Given the description of an element on the screen output the (x, y) to click on. 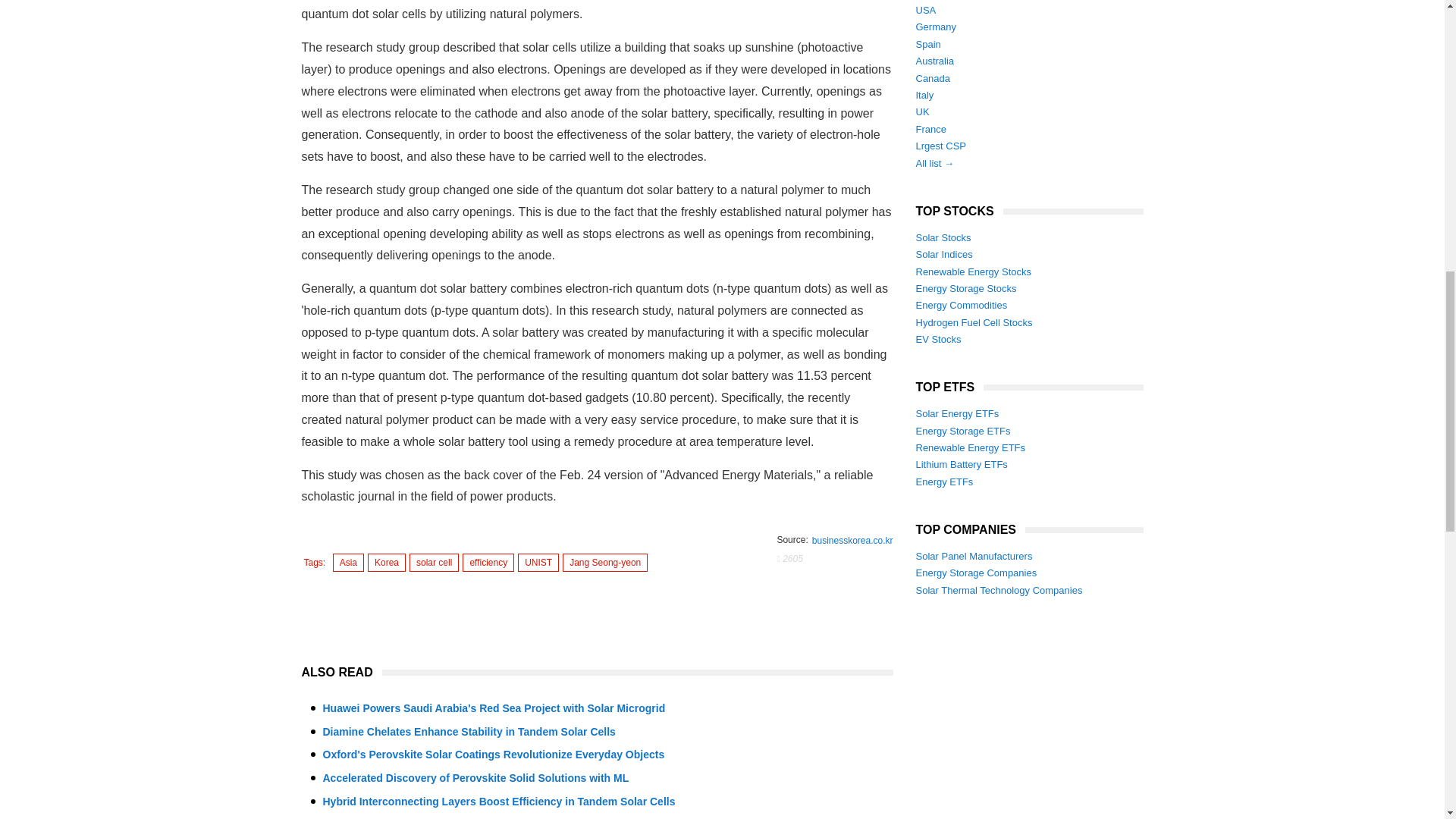
Diamine Chelates Enhance Stability in Tandem Solar Cells (469, 731)
Accelerated Discovery of Perovskite Solid Solutions with ML (475, 777)
